Given the description of an element on the screen output the (x, y) to click on. 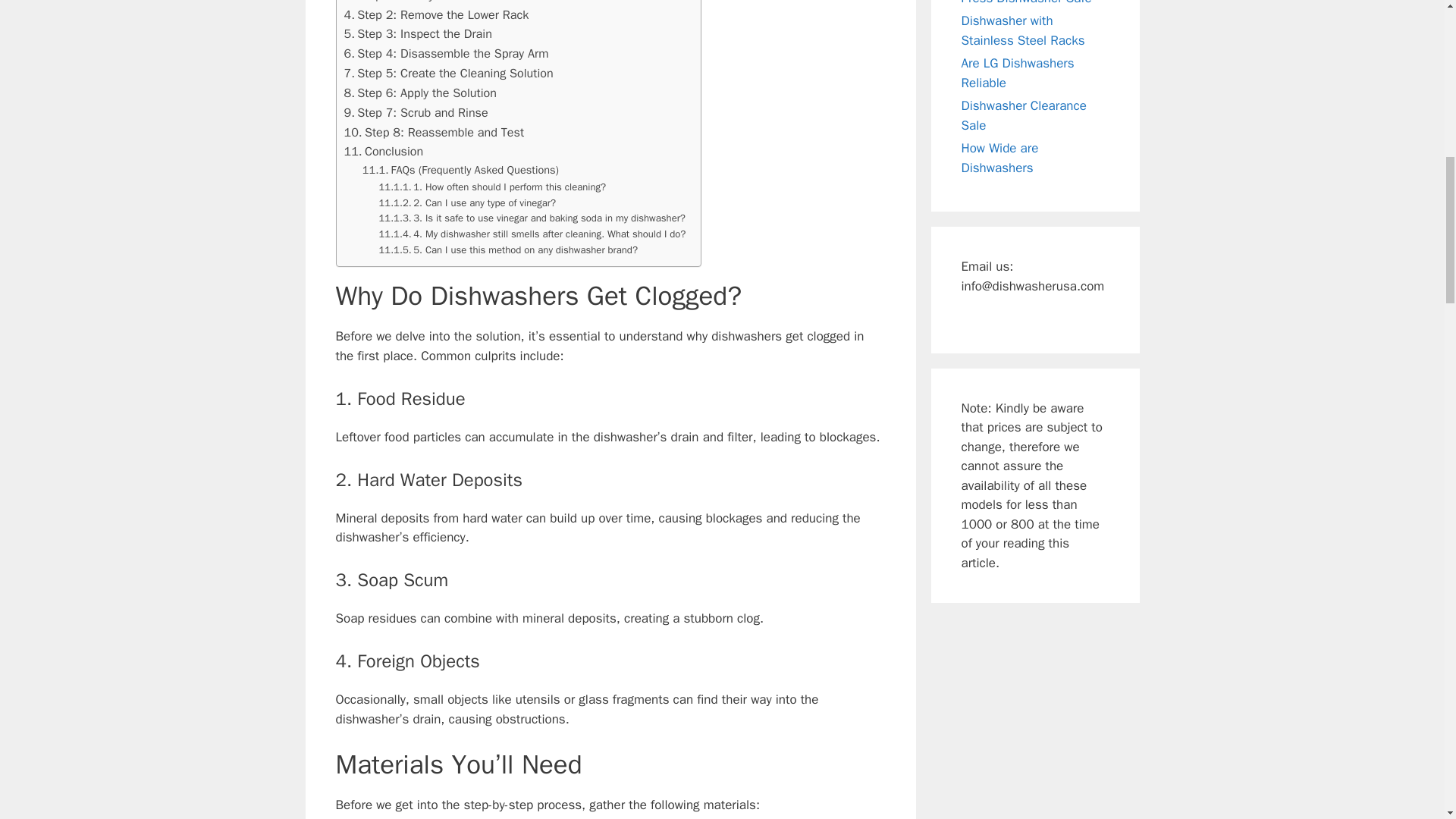
Step 7: Scrub and Rinse (415, 112)
Conclusion (383, 151)
Step 4: Disassemble the Spray Arm (445, 53)
Step 1: Safety First (402, 2)
1. How often should I perform this cleaning? (492, 187)
Step 3: Inspect the Drain (417, 34)
Step 8: Reassemble and Test (433, 132)
Step 6: Apply the Solution (419, 93)
Step 2: Remove the Lower Rack (436, 14)
Step 1: Safety First (402, 2)
Step 5: Create the Cleaning Solution (448, 73)
Step 2: Remove the Lower Rack (436, 14)
